Given the description of an element on the screen output the (x, y) to click on. 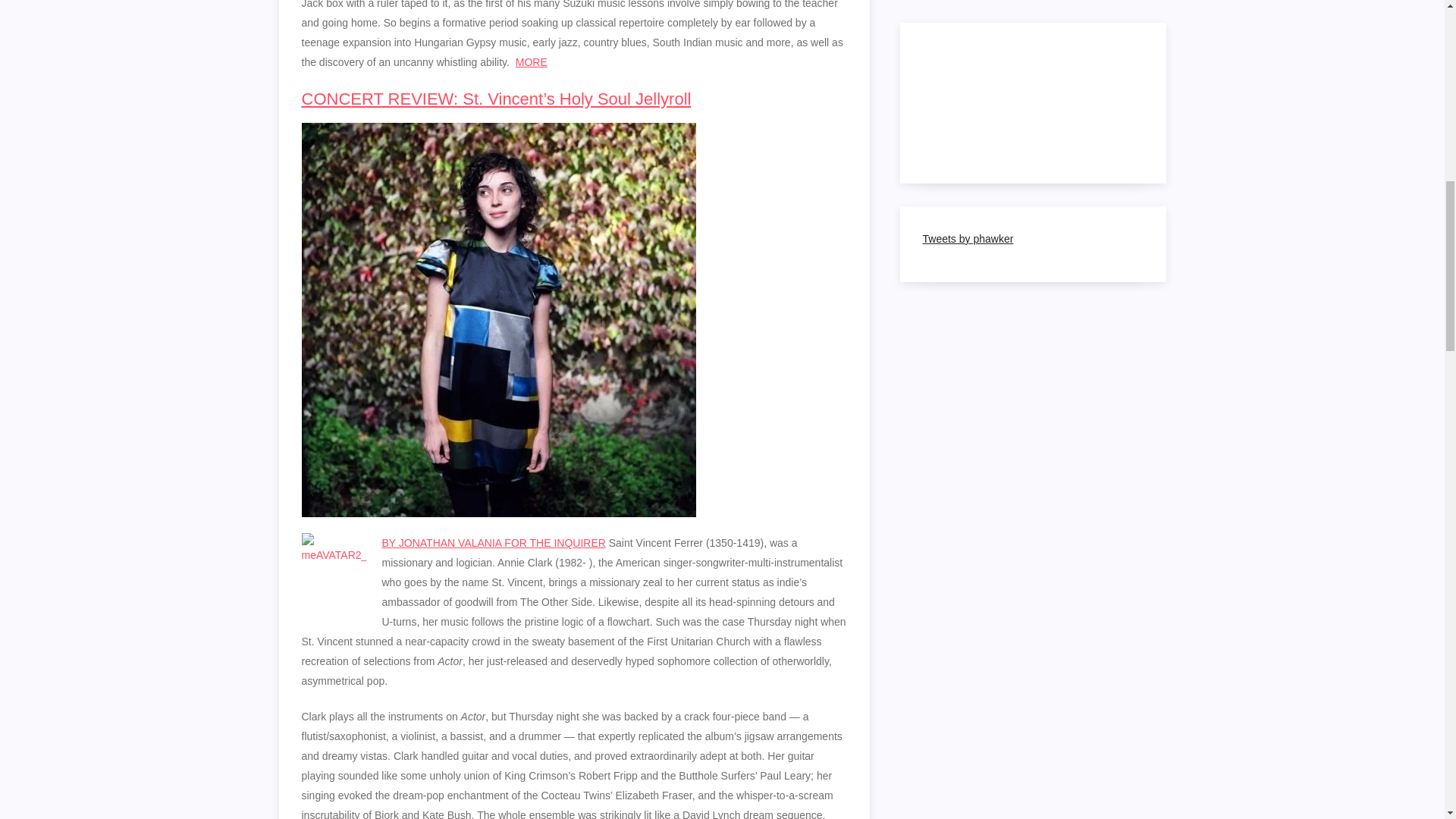
adsfasdfasdfas (493, 542)
MORE (531, 61)
asdfasdfasdfas (531, 61)
BY JONATHAN VALANIA FOR THE INQUIRER (493, 542)
